Given the description of an element on the screen output the (x, y) to click on. 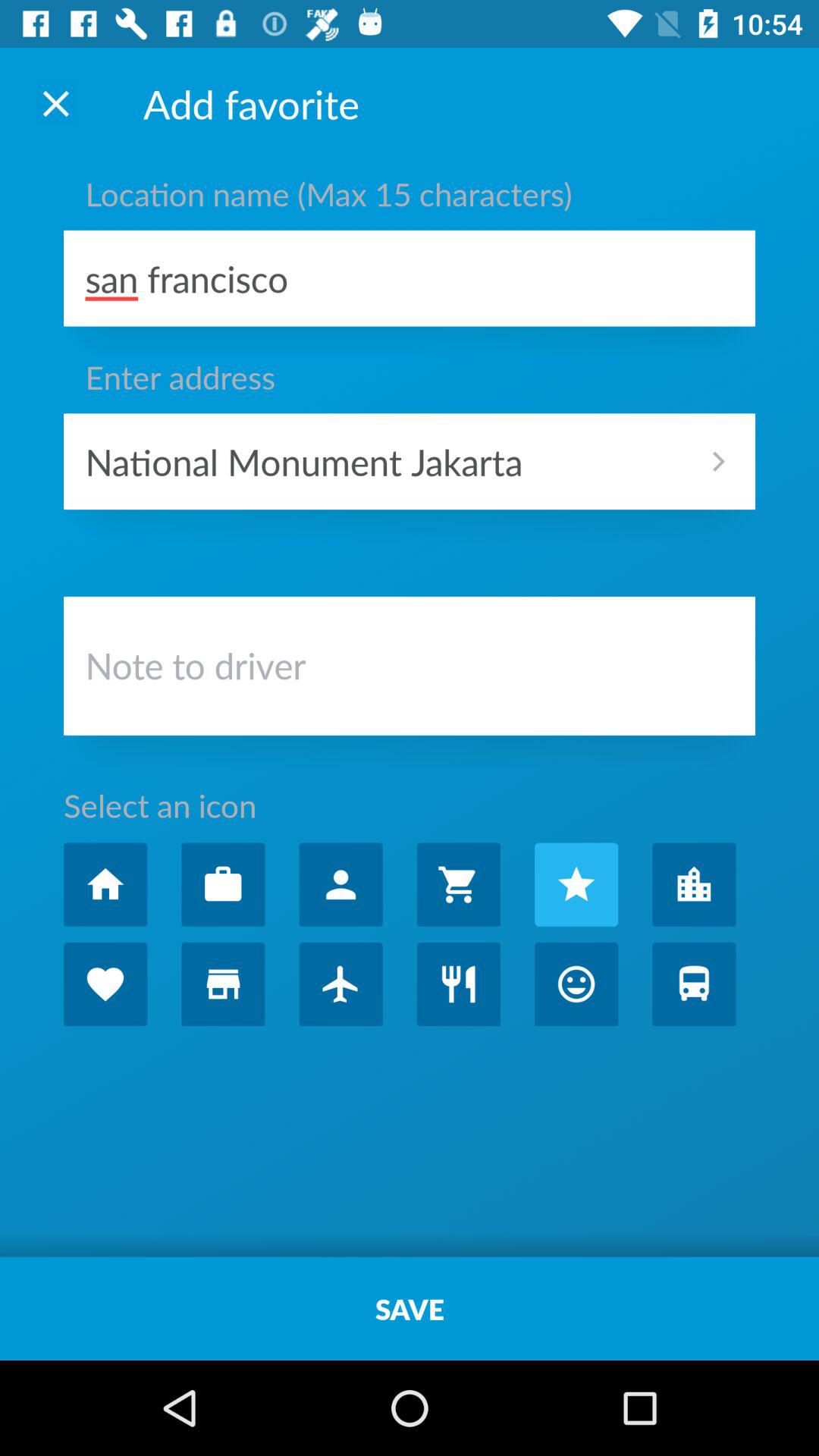
select smiley face (576, 984)
